Given the description of an element on the screen output the (x, y) to click on. 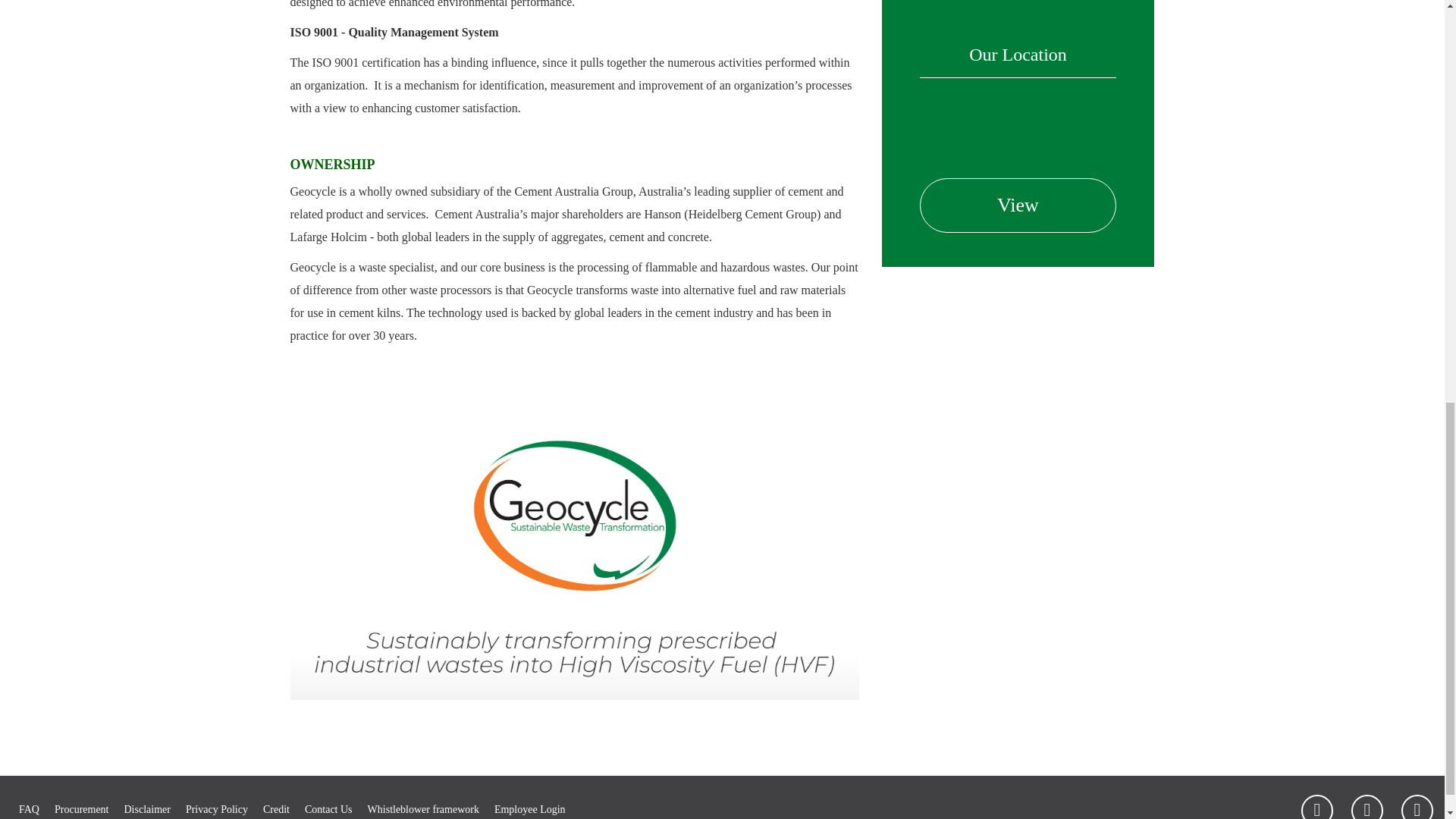
Procurement (82, 805)
Privacy Policy (216, 805)
Employee Login (530, 805)
Disclaimer (146, 805)
Whistleblower framework (423, 805)
Credit (276, 805)
Contact Us (328, 805)
View (1017, 205)
